Given the description of an element on the screen output the (x, y) to click on. 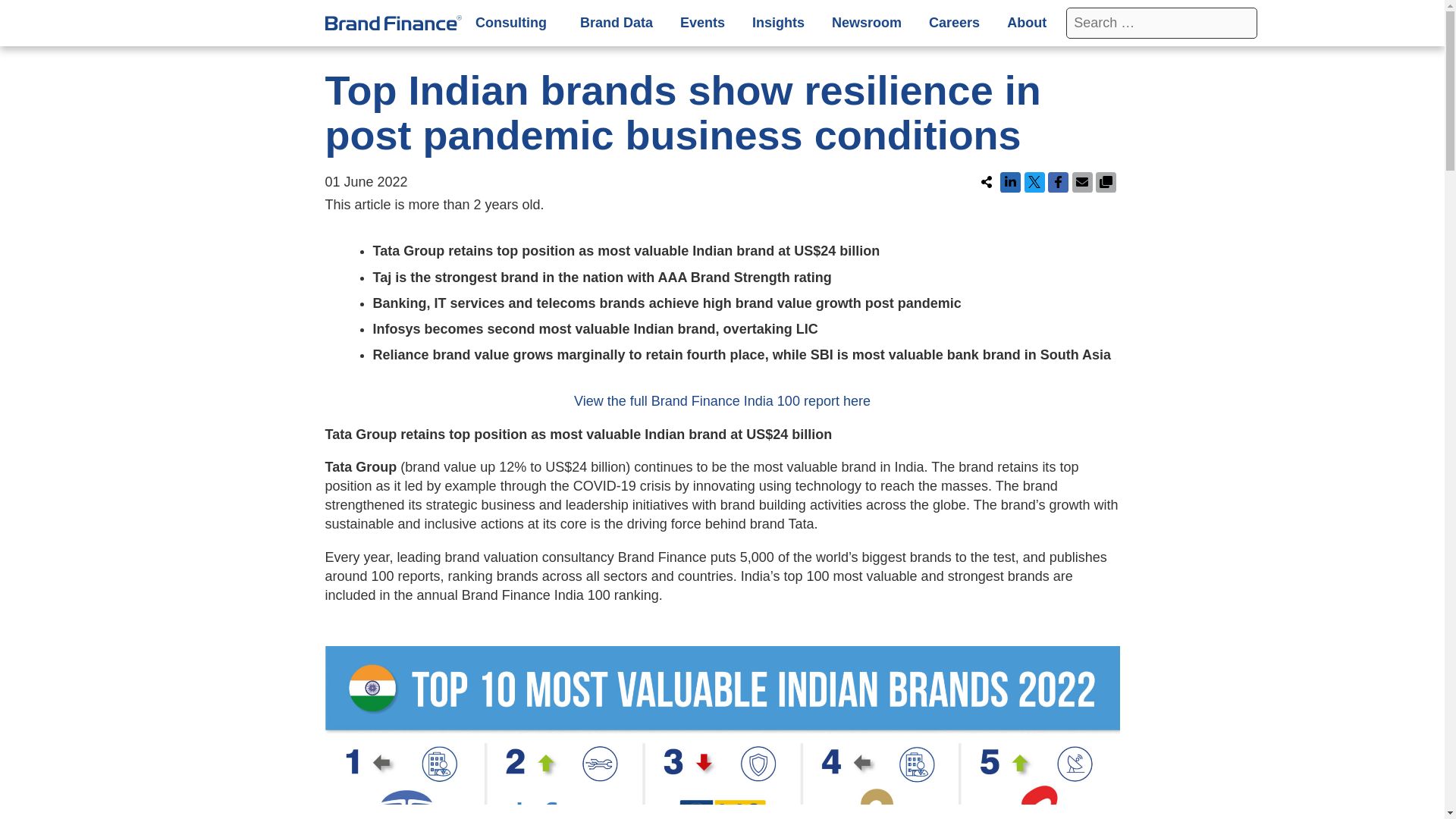
Share by Email (1082, 181)
Events (702, 22)
Share on Facebook (1058, 181)
About (1028, 22)
Share (986, 181)
Newsroom (866, 22)
Share on Twitter (1033, 181)
Share on LinkedIn (1010, 182)
Copy Link (1106, 181)
Brand Data (616, 22)
